Given the description of an element on the screen output the (x, y) to click on. 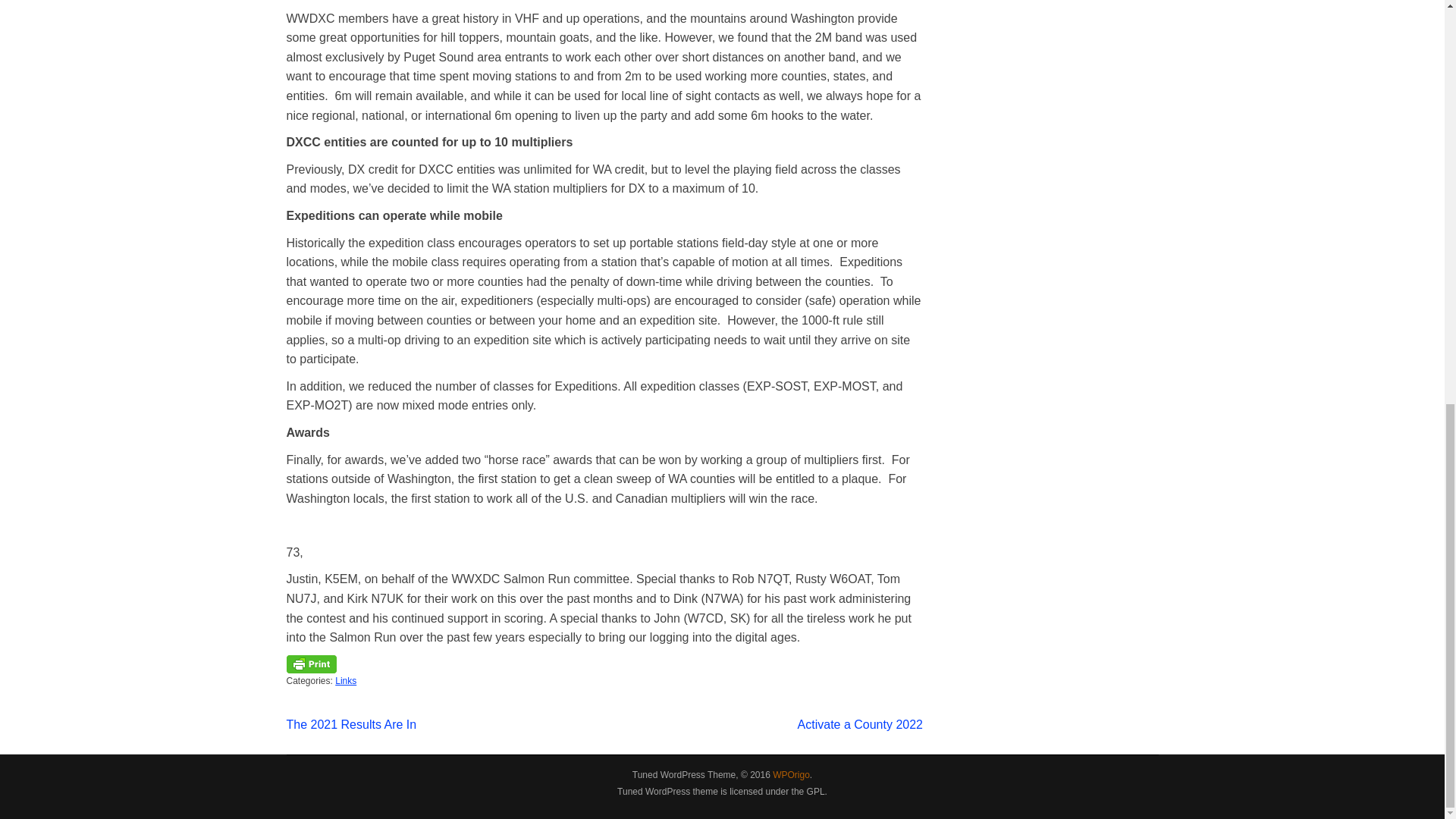
Activate a County 2022 (860, 724)
The 2021 Results Are In (351, 724)
WPOrigo (791, 774)
Links (345, 680)
